Given the description of an element on the screen output the (x, y) to click on. 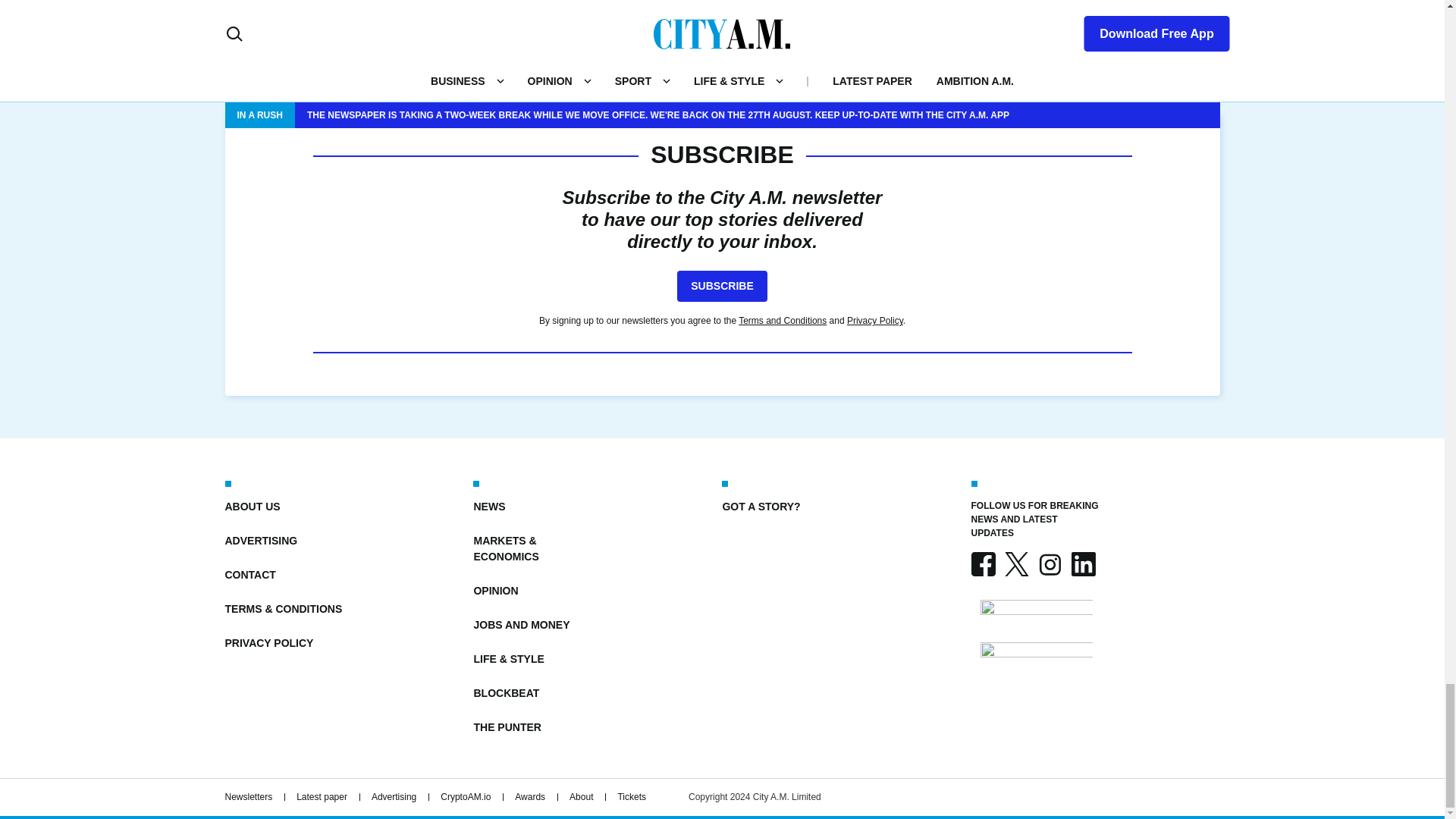
LINKEDIN (1082, 564)
X (1015, 564)
FACEBOOK (982, 564)
INSTAGRAM (1048, 564)
